Given the description of an element on the screen output the (x, y) to click on. 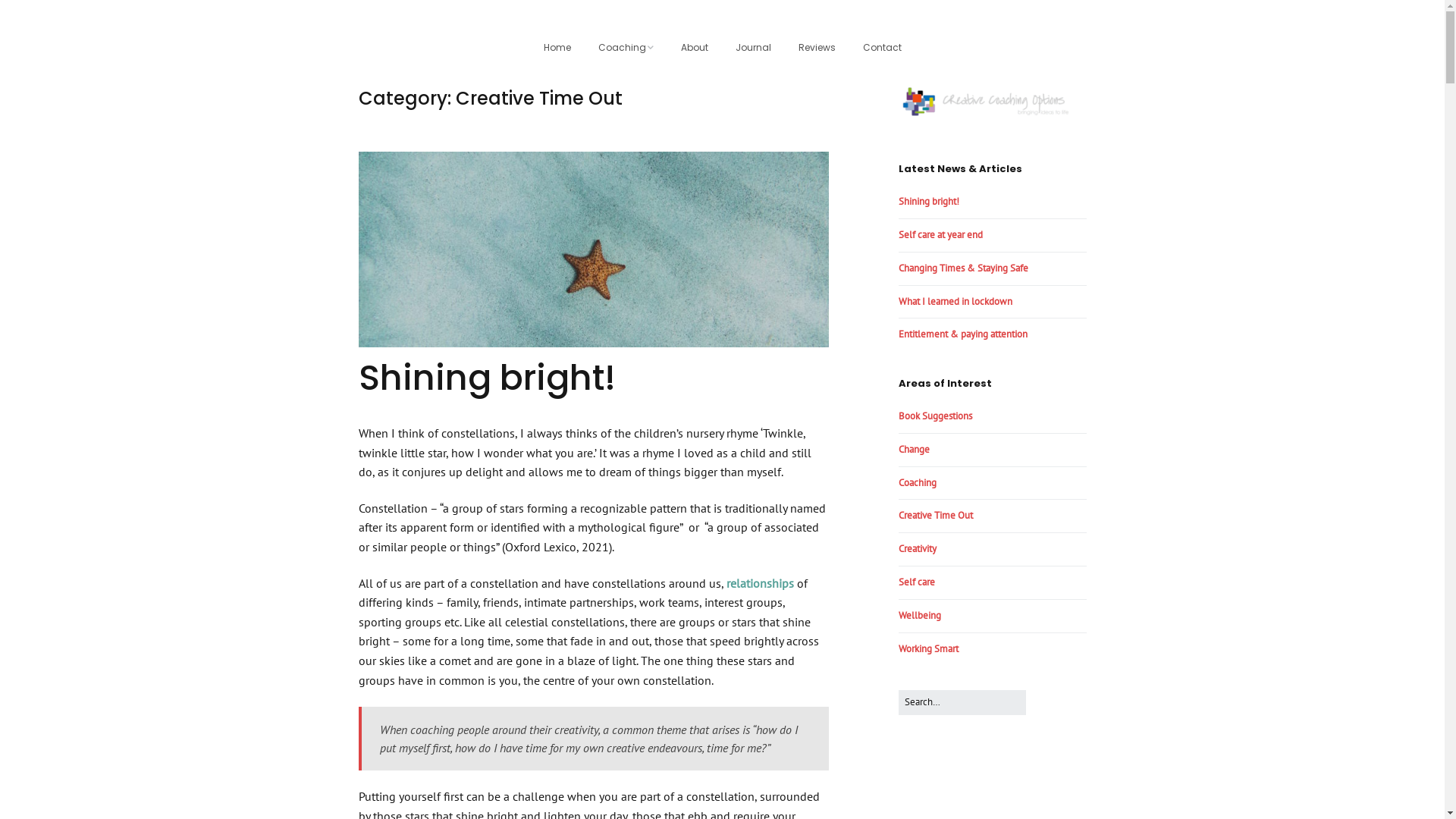
Journal Element type: text (753, 47)
Home Element type: text (556, 47)
Search Element type: text (1025, 689)
Creative Time Out Element type: text (934, 514)
Reviews Element type: text (816, 47)
Self care Element type: text (915, 581)
Coaching Element type: text (625, 47)
Change Element type: text (912, 448)
Coaching Element type: text (916, 482)
Wellbeing Element type: text (918, 614)
Changing Times & Staying Safe Element type: text (962, 267)
Creativity Element type: text (916, 548)
Shining bright! Element type: text (486, 377)
Entitlement & paying attention Element type: text (961, 333)
Press Enter to submit your search Element type: hover (961, 702)
Working Smart Element type: text (927, 648)
relationships Element type: text (759, 582)
What I learned in lockdown Element type: text (954, 300)
Shining bright! Element type: text (927, 200)
Book Suggestions Element type: text (934, 415)
Contact Element type: text (881, 47)
Self care at year end Element type: text (939, 234)
About Element type: text (694, 47)
